Given the description of an element on the screen output the (x, y) to click on. 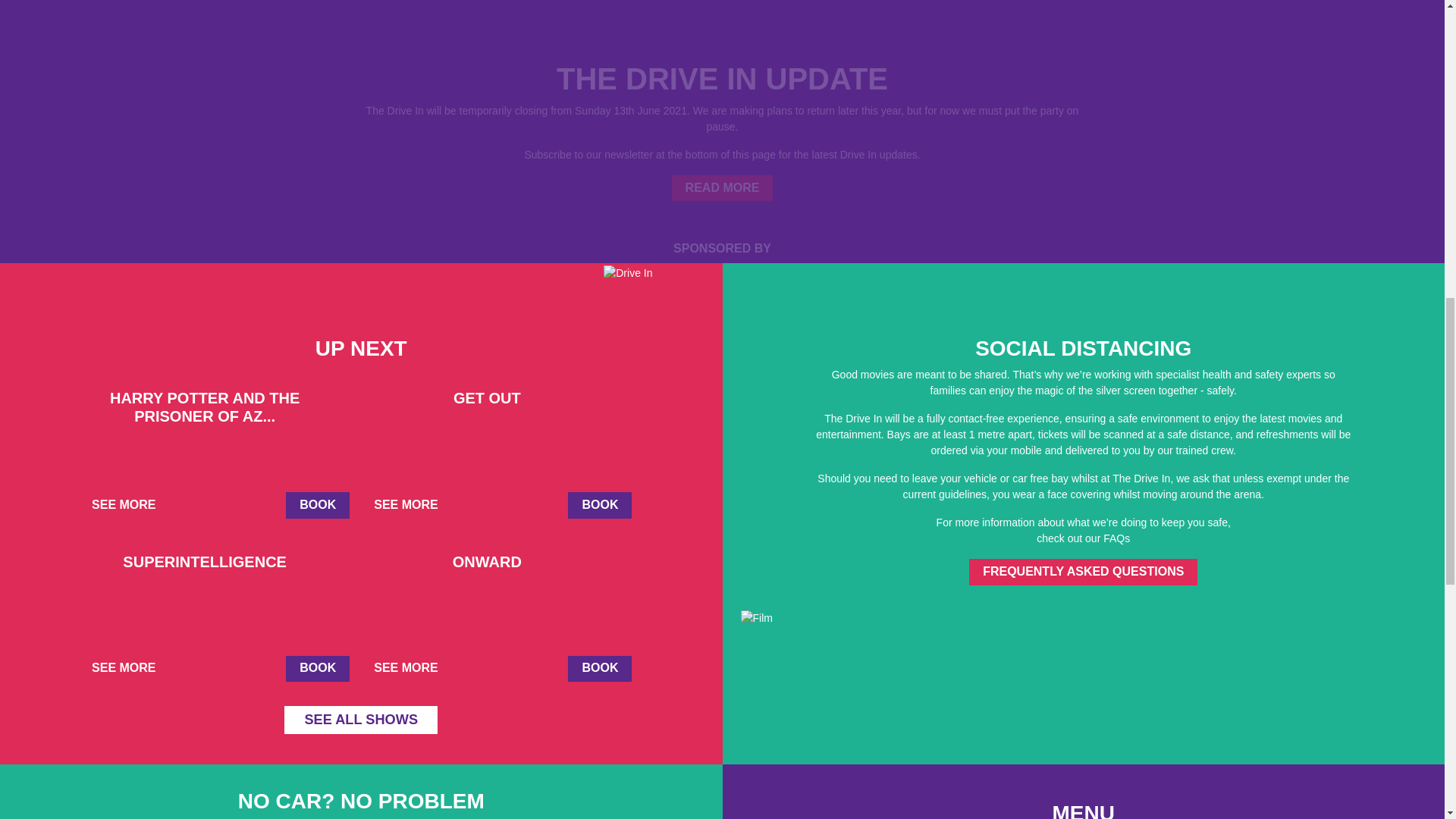
SEE MORE (411, 668)
SEE ALL SHOWS (360, 719)
SEE MORE (129, 668)
BOOK (599, 504)
BOOK (317, 504)
SEE MORE (411, 504)
FREQUENTLY ASKED QUESTIONS (1082, 571)
BOOK (317, 668)
SEE MORE (129, 504)
BOOK (599, 668)
READ MORE (722, 187)
